Given the description of an element on the screen output the (x, y) to click on. 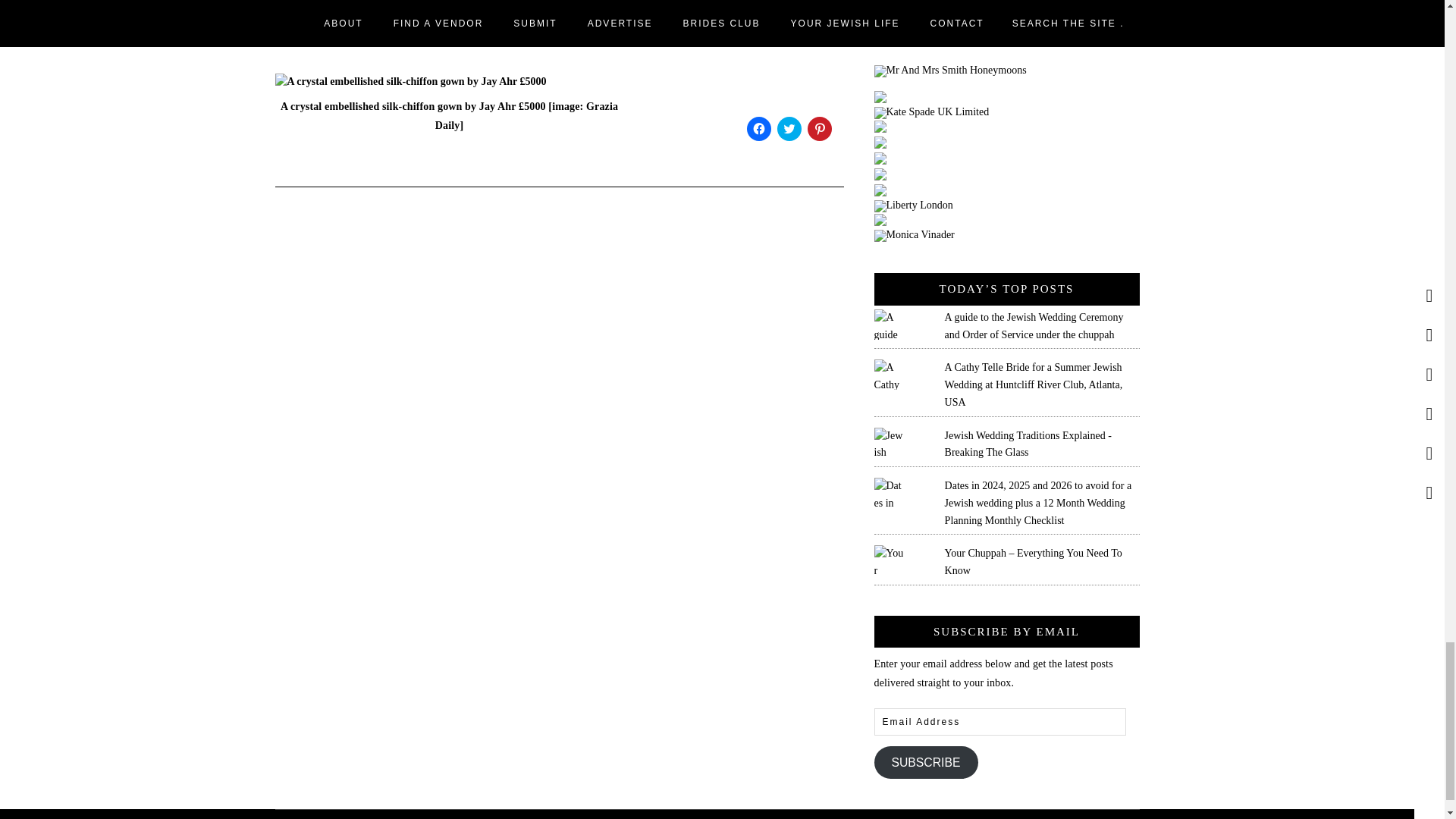
Click to share on Facebook (757, 128)
Click to share on Pinterest (818, 128)
Click to share on Twitter (788, 128)
Jewish Wedding Traditions Explained - Breaking The Glass (1028, 443)
